Given the description of an element on the screen output the (x, y) to click on. 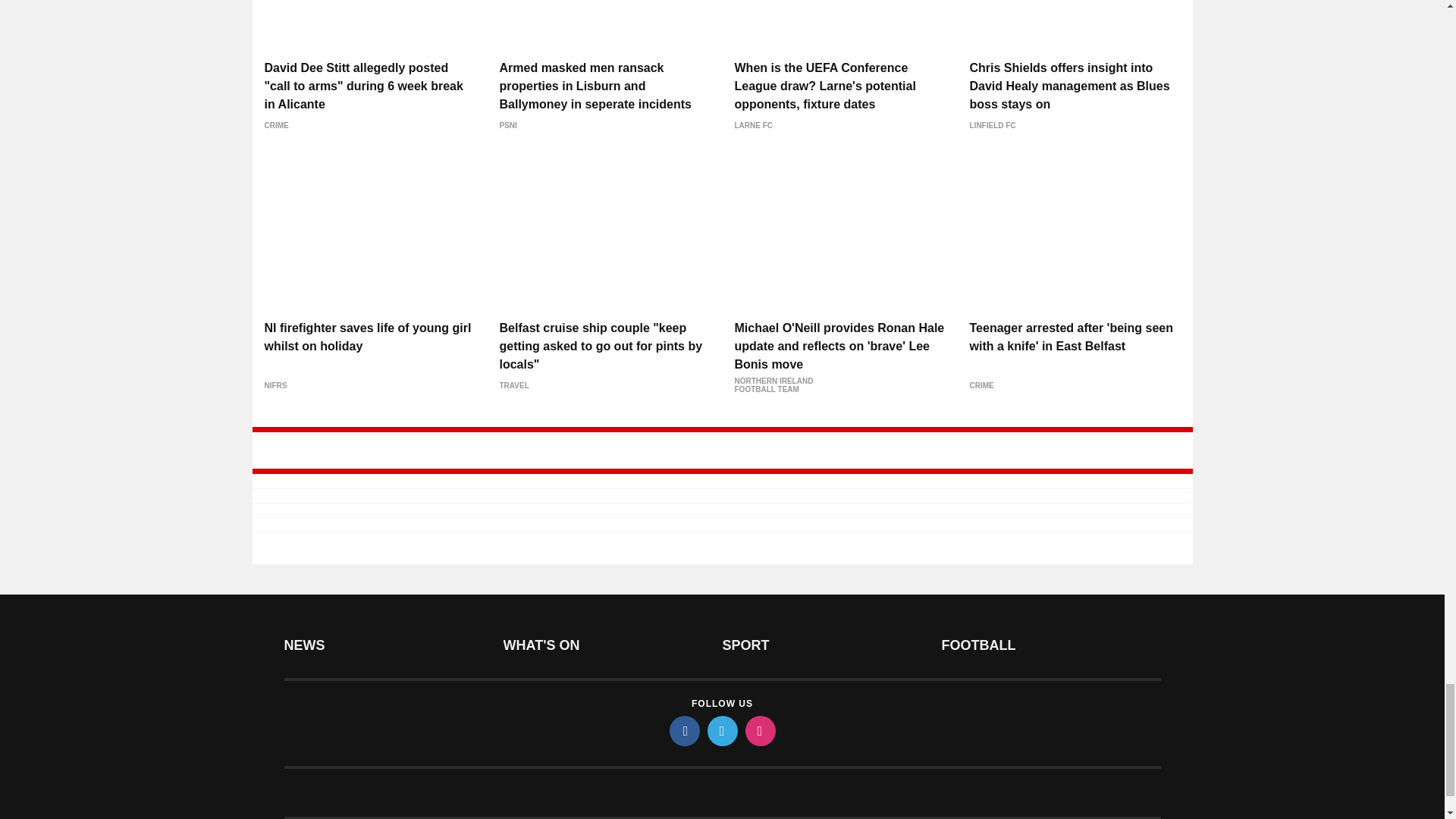
facebook (683, 730)
twitter (721, 730)
instagram (759, 730)
